Given the description of an element on the screen output the (x, y) to click on. 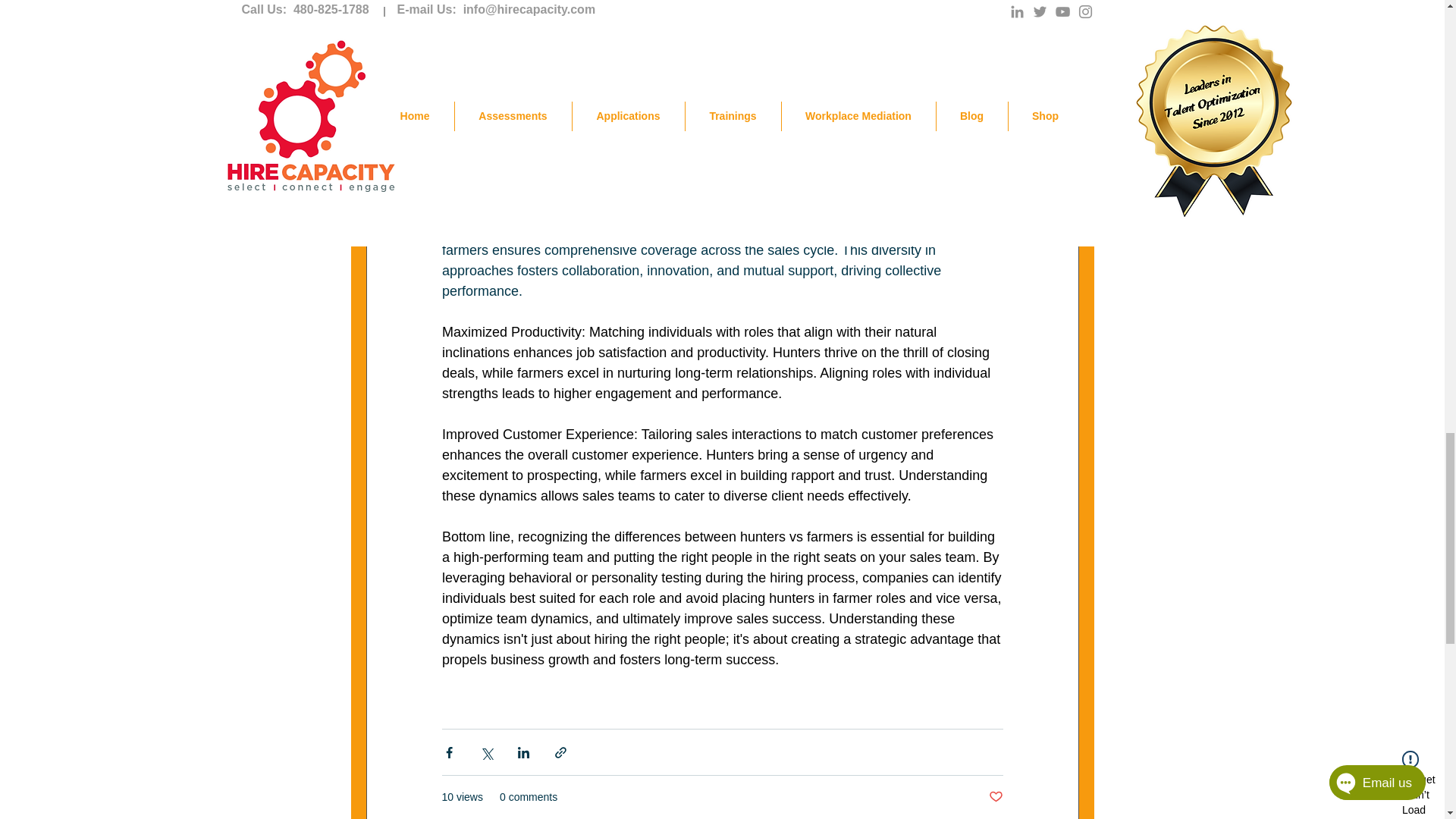
Post not marked as liked (995, 797)
